Given the description of an element on the screen output the (x, y) to click on. 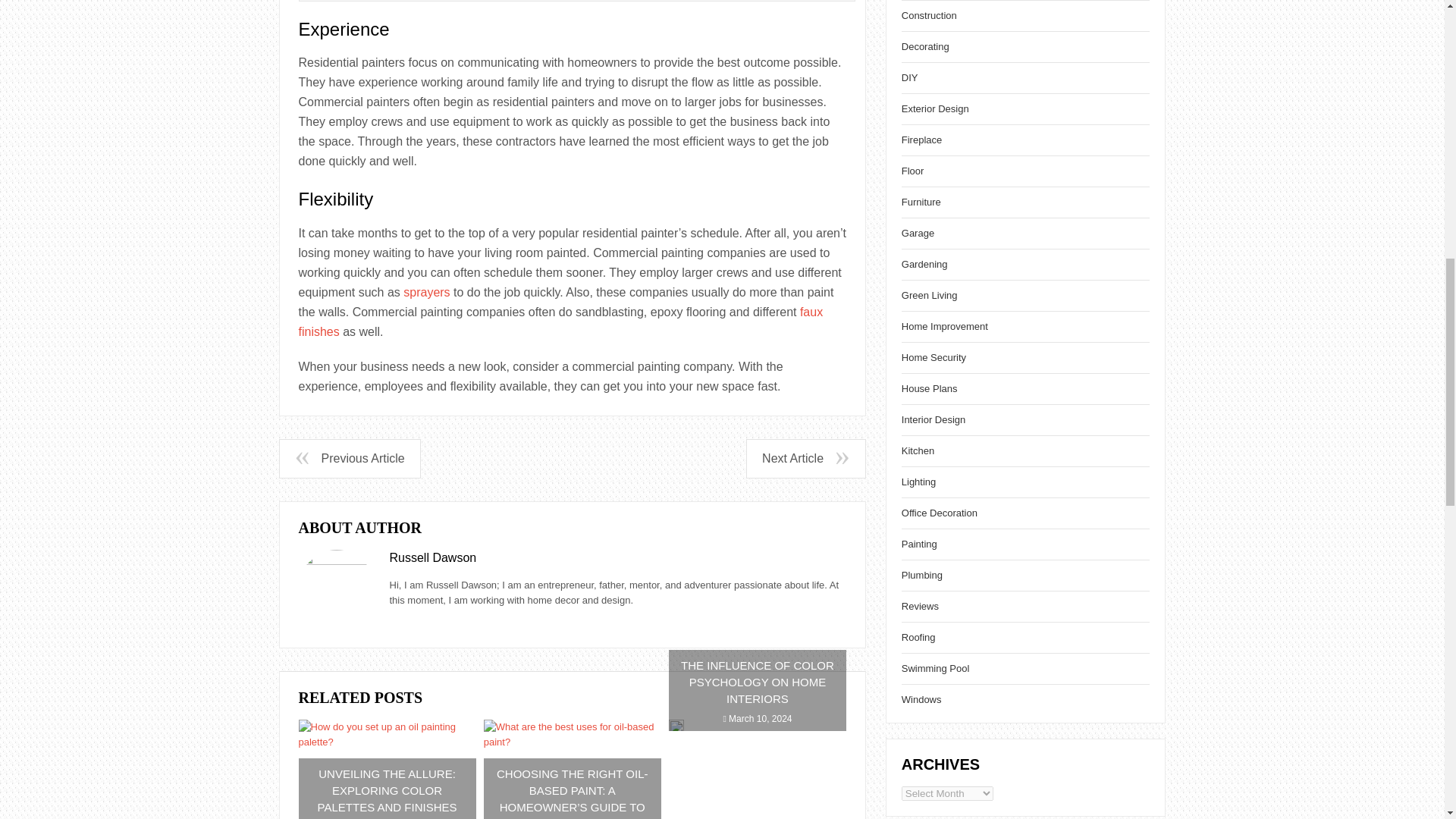
sprayers (426, 291)
faux finishes (561, 321)
Previous Article (349, 458)
Next Article (805, 458)
